Given the description of an element on the screen output the (x, y) to click on. 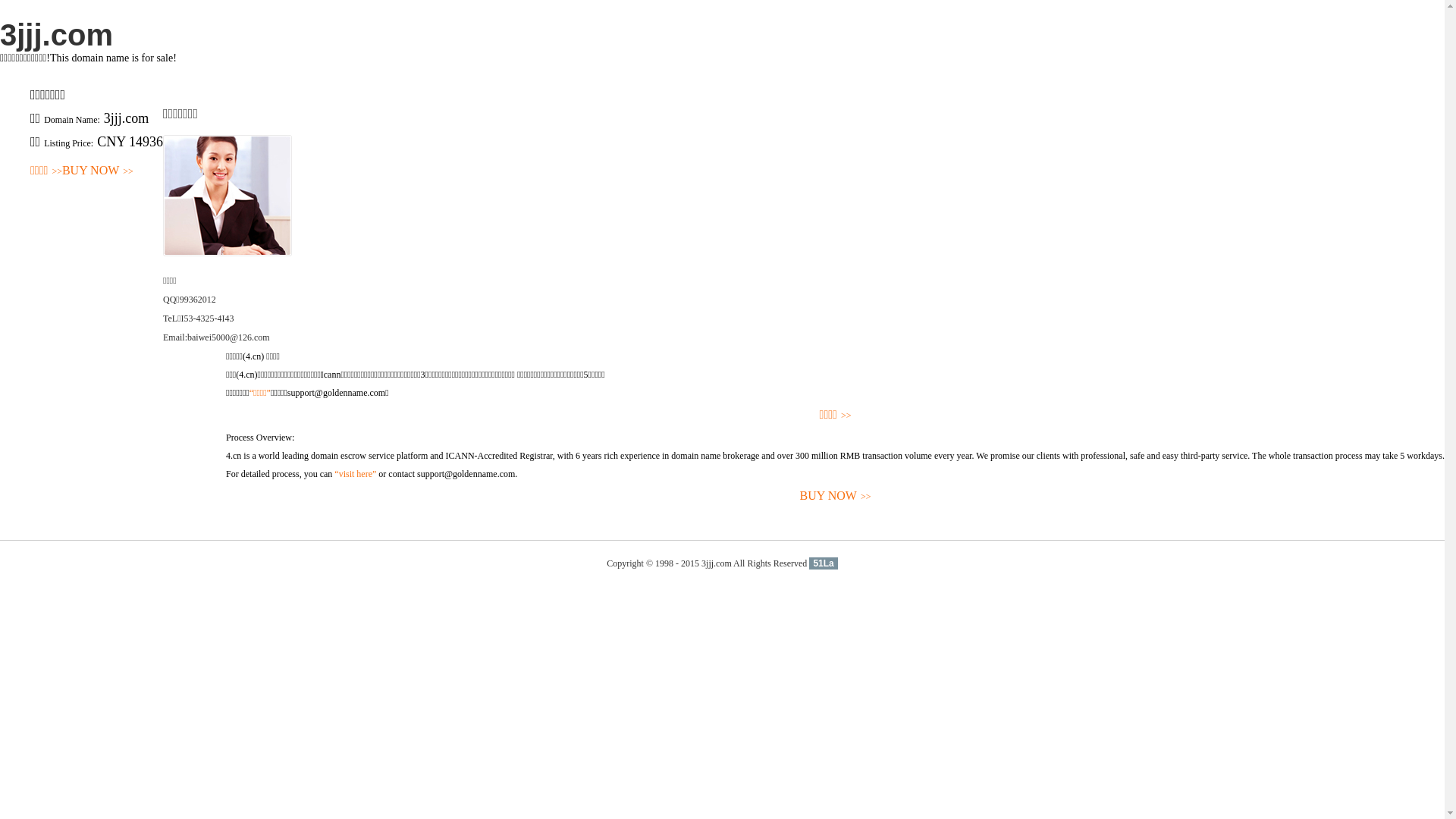
BUY NOW>> Element type: text (834, 496)
BUY NOW>> Element type: text (97, 170)
51La Element type: text (823, 563)
